Given the description of an element on the screen output the (x, y) to click on. 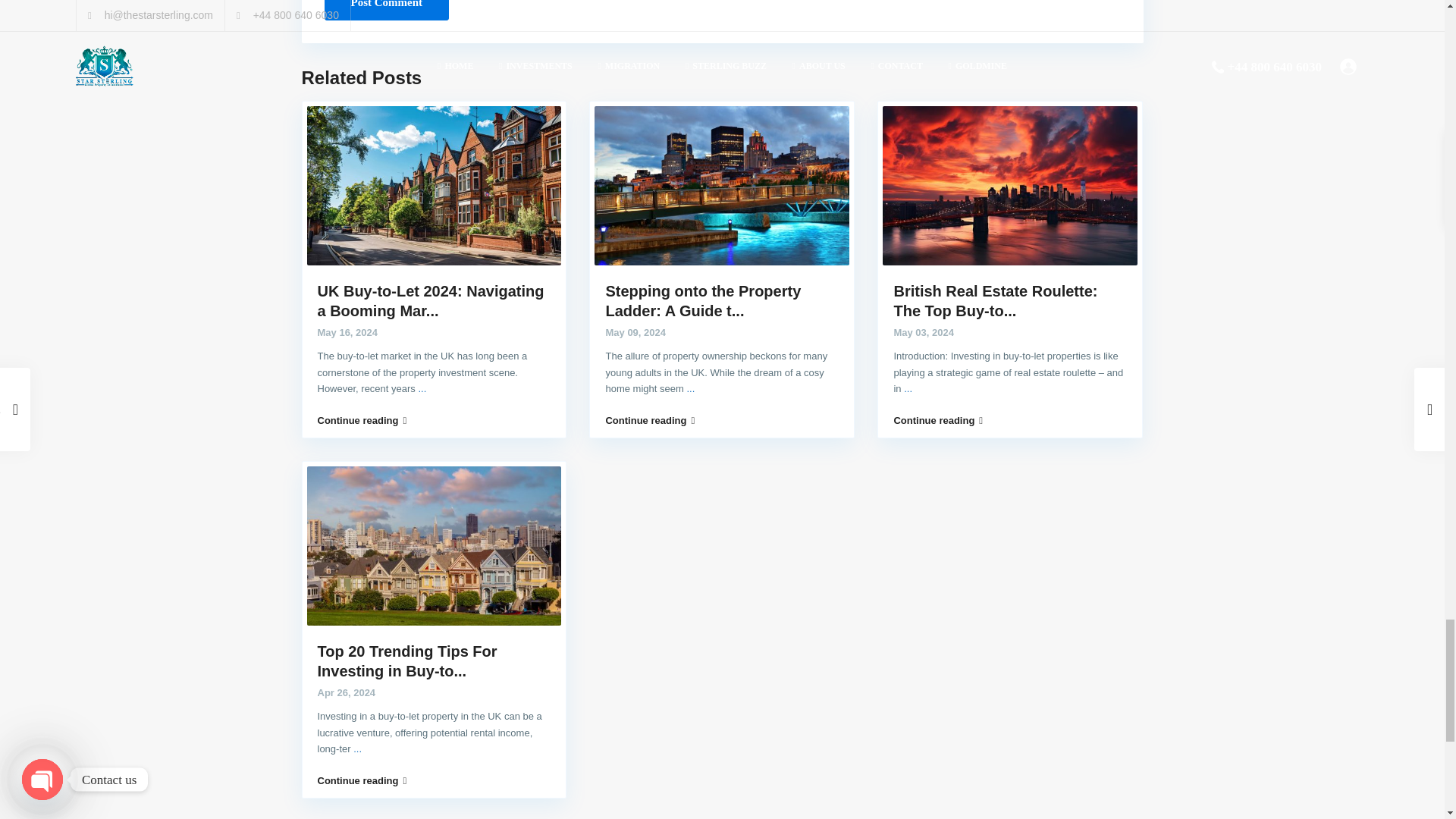
Post Comment (386, 10)
